Given the description of an element on the screen output the (x, y) to click on. 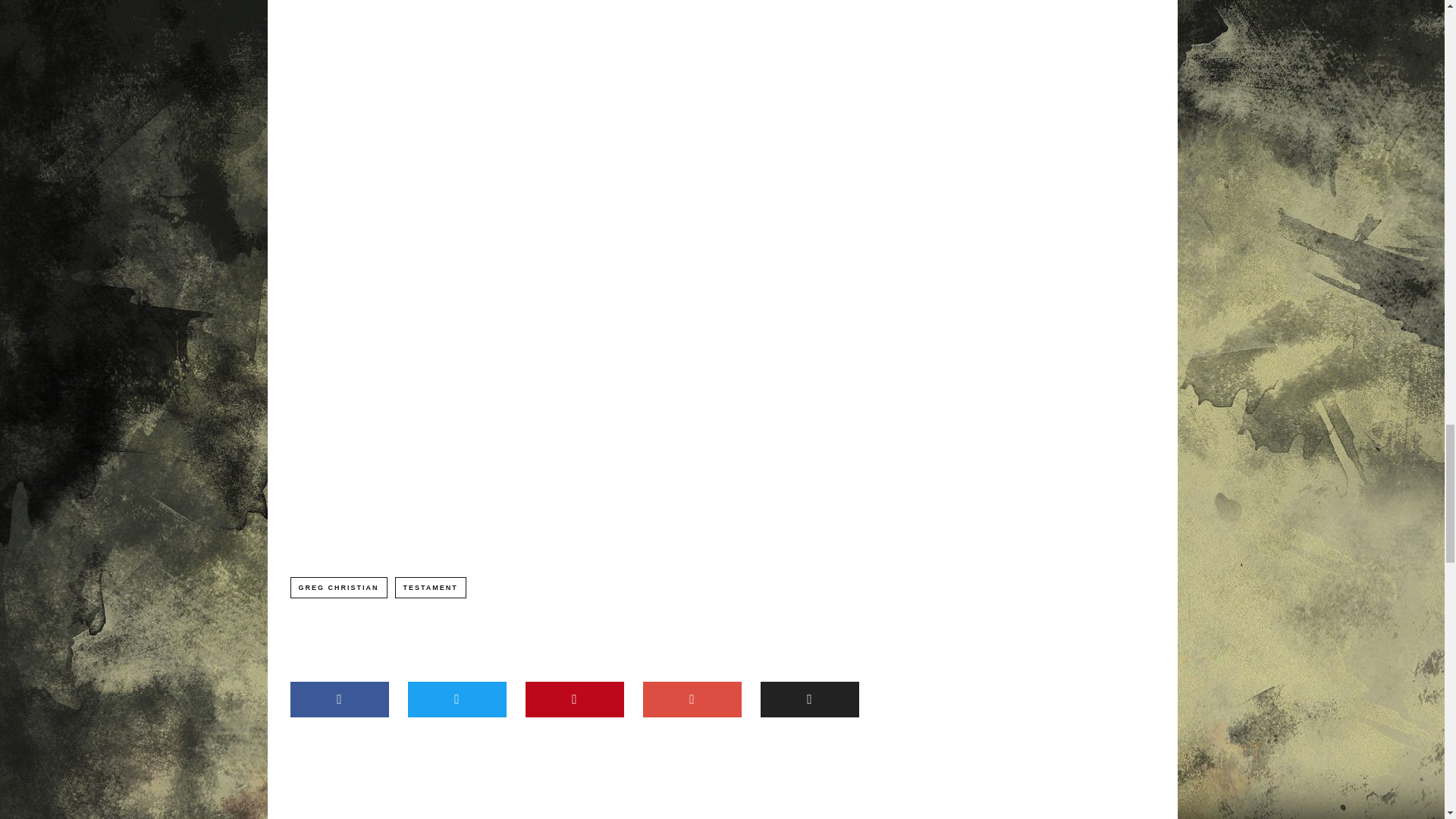
fb:post Facebook Social Plugin (531, 434)
fb:post Facebook Social Plugin (531, 200)
fb:post Facebook Social Plugin (531, 40)
